Given the description of an element on the screen output the (x, y) to click on. 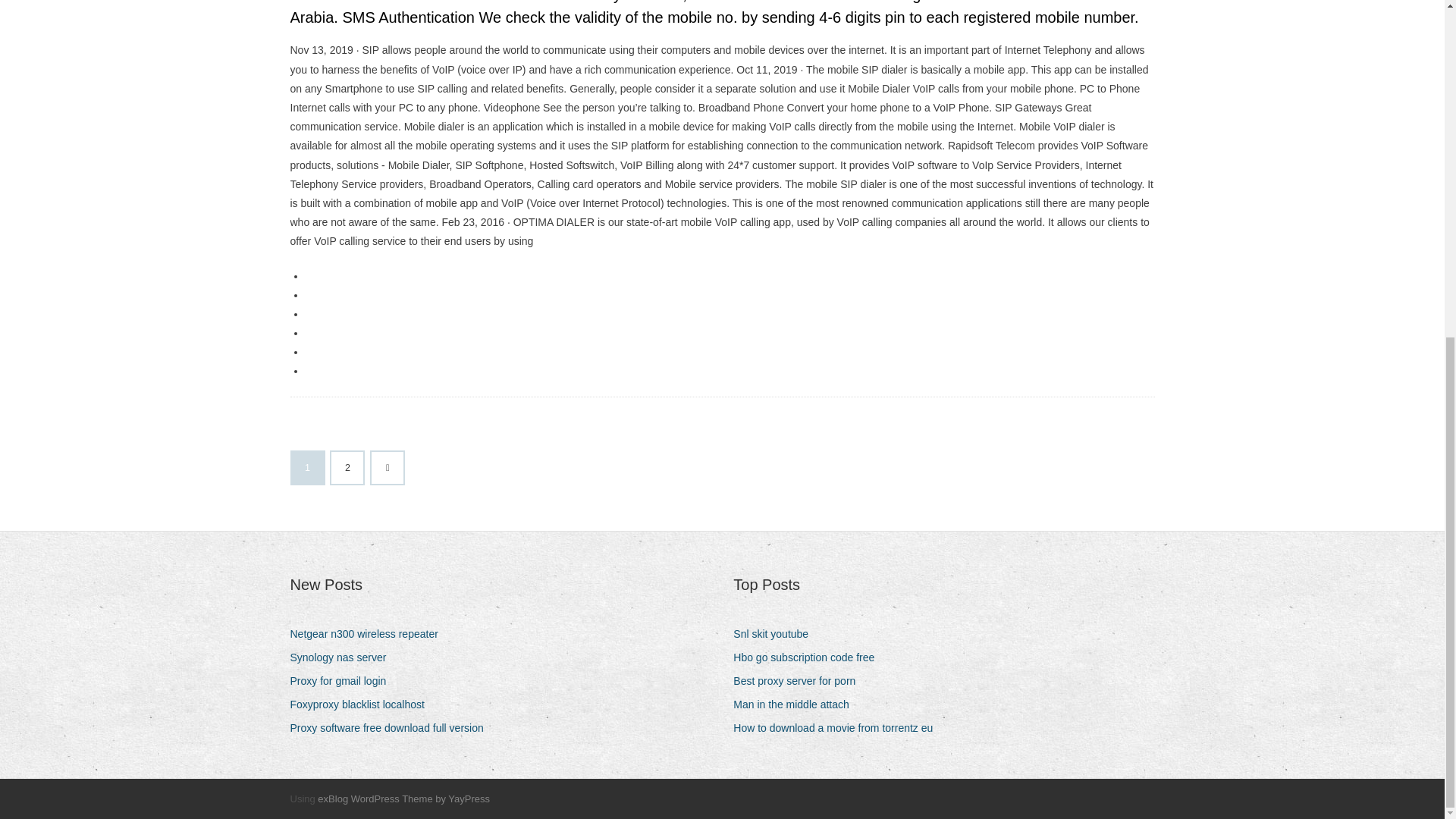
Netgear n300 wireless repeater (368, 634)
Hbo go subscription code free (809, 657)
Foxyproxy blacklist localhost (362, 704)
Snl skit youtube (776, 634)
exBlog WordPress Theme by YayPress (403, 798)
Proxy software free download full version (392, 728)
2 (346, 468)
Man in the middle attach (796, 704)
How to download a movie from torrentz eu (838, 728)
Synology nas server (343, 657)
Best proxy server for porn (799, 680)
Proxy for gmail login (343, 680)
